Given the description of an element on the screen output the (x, y) to click on. 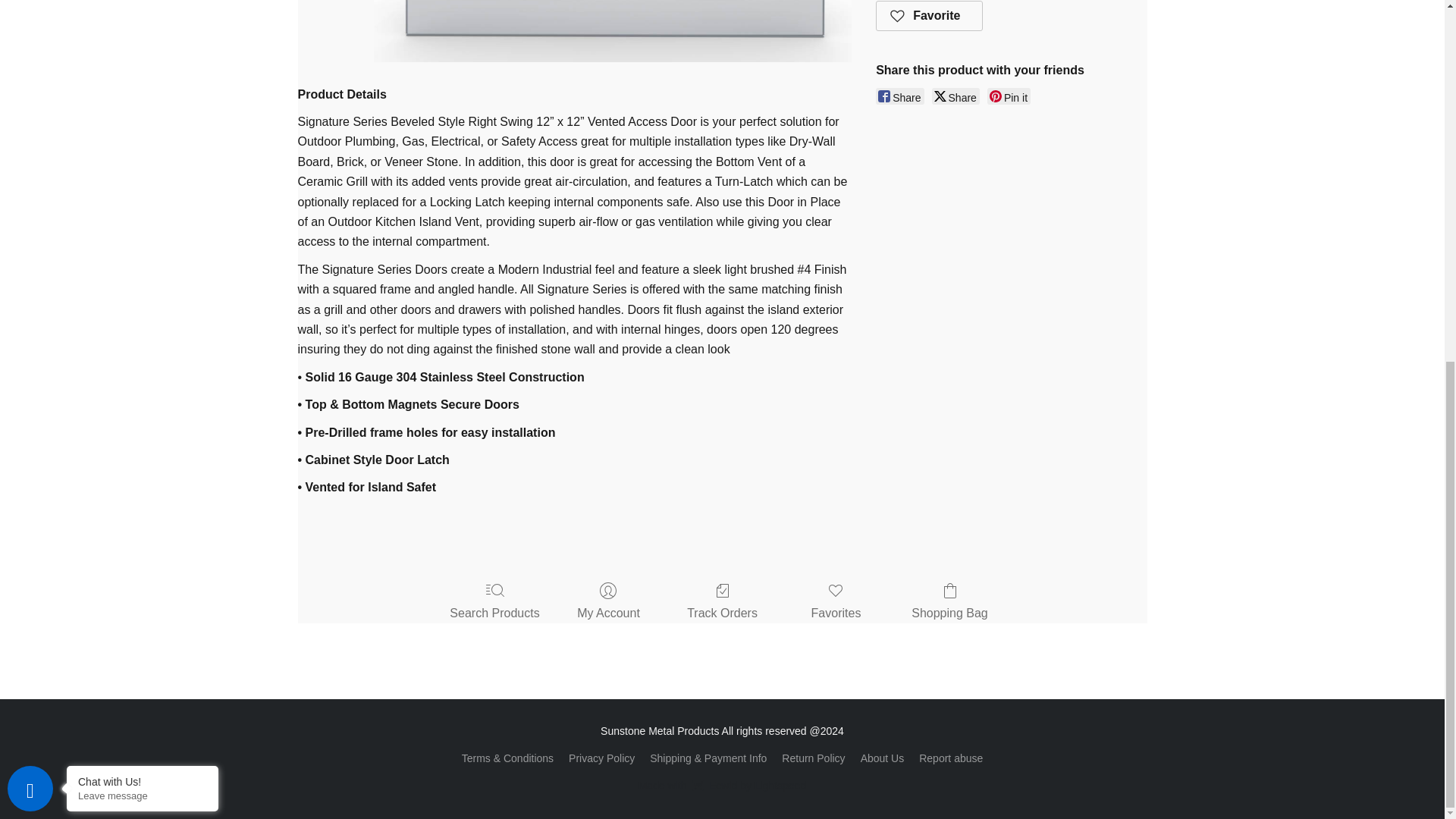
My Account (608, 602)
Share (955, 95)
Chat with Us! (142, 137)
Search Products (494, 602)
Leave message (142, 151)
Share (899, 95)
Favorite (929, 15)
Pin it (1008, 95)
